Given the description of an element on the screen output the (x, y) to click on. 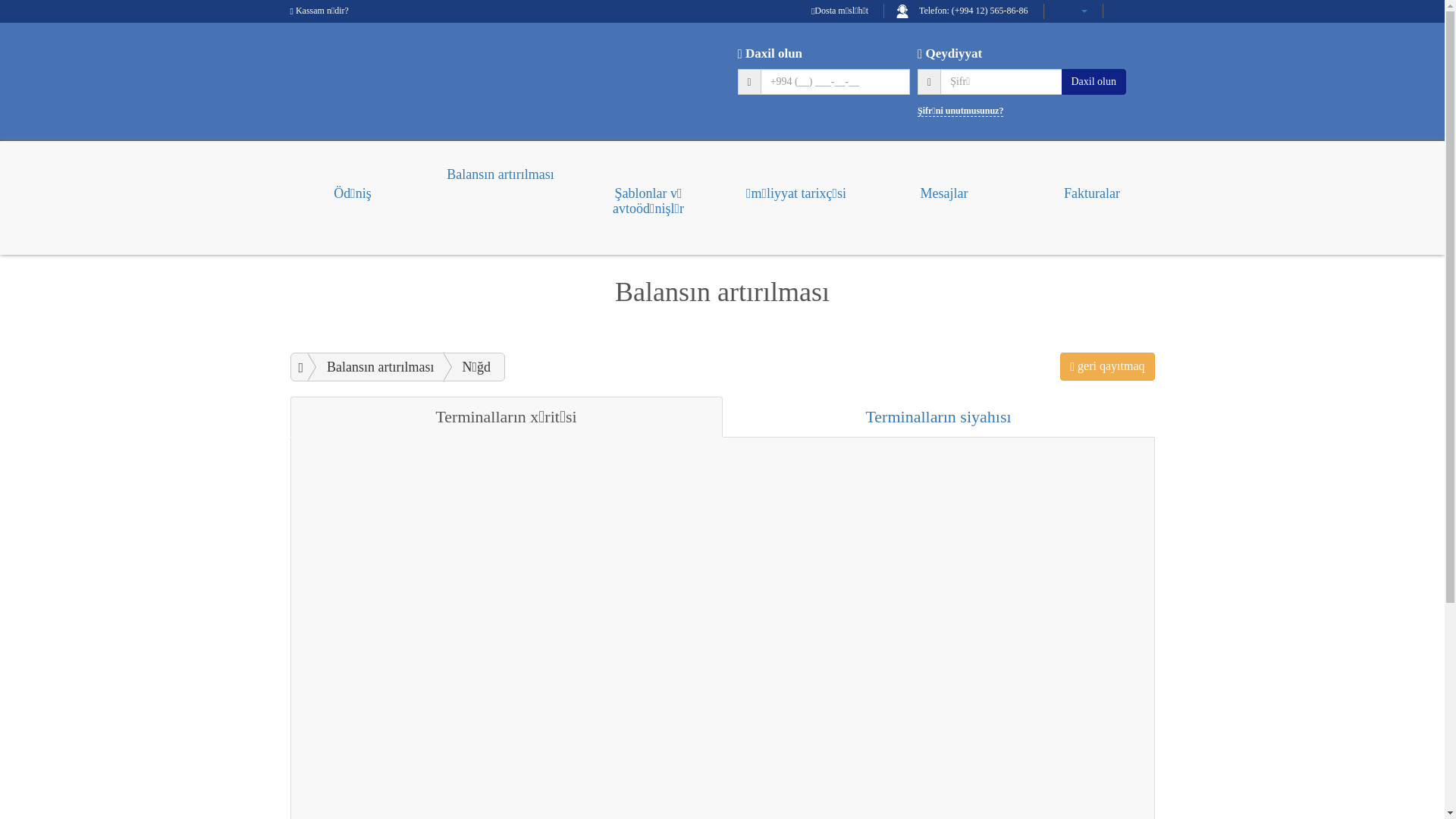
facebook Element type: text (1124, 10)
Qeydiyyat Element type: text (949, 53)
Fakturalar Element type: text (1091, 186)
Daxil olun Element type: text (769, 53)
twitter Element type: text (1147, 10)
Daxil olun Element type: text (1093, 81)
Mesajlar Element type: text (943, 186)
